Given the description of an element on the screen output the (x, y) to click on. 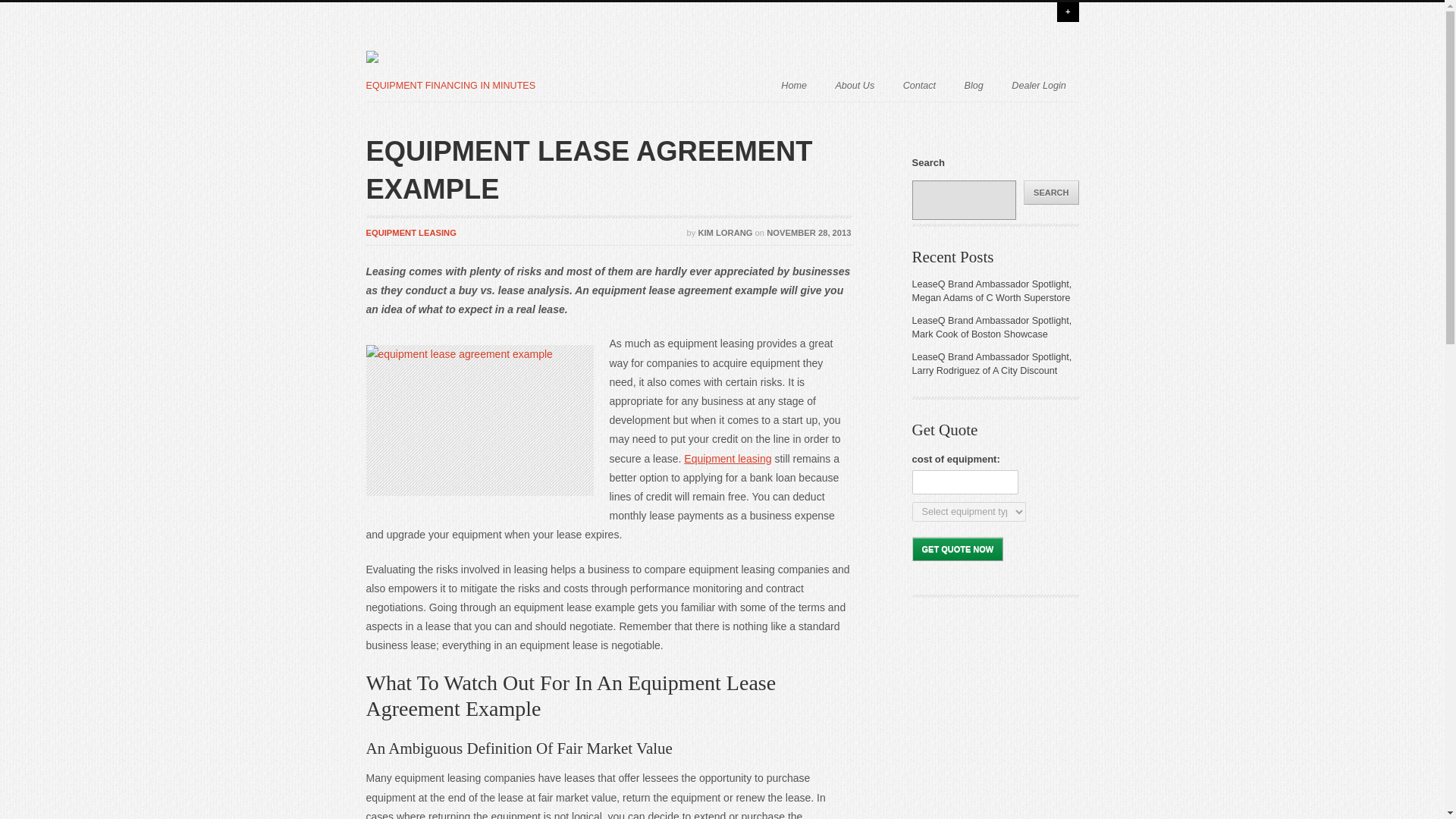
KIM LORANG (724, 232)
View all posts by Kim Lorang (724, 232)
Home (793, 83)
SEARCH (1050, 192)
EQUIPMENT LEASING (410, 232)
7:28 am (808, 232)
NOVEMBER 28, 2013 (808, 232)
About Us (854, 83)
